Given the description of an element on the screen output the (x, y) to click on. 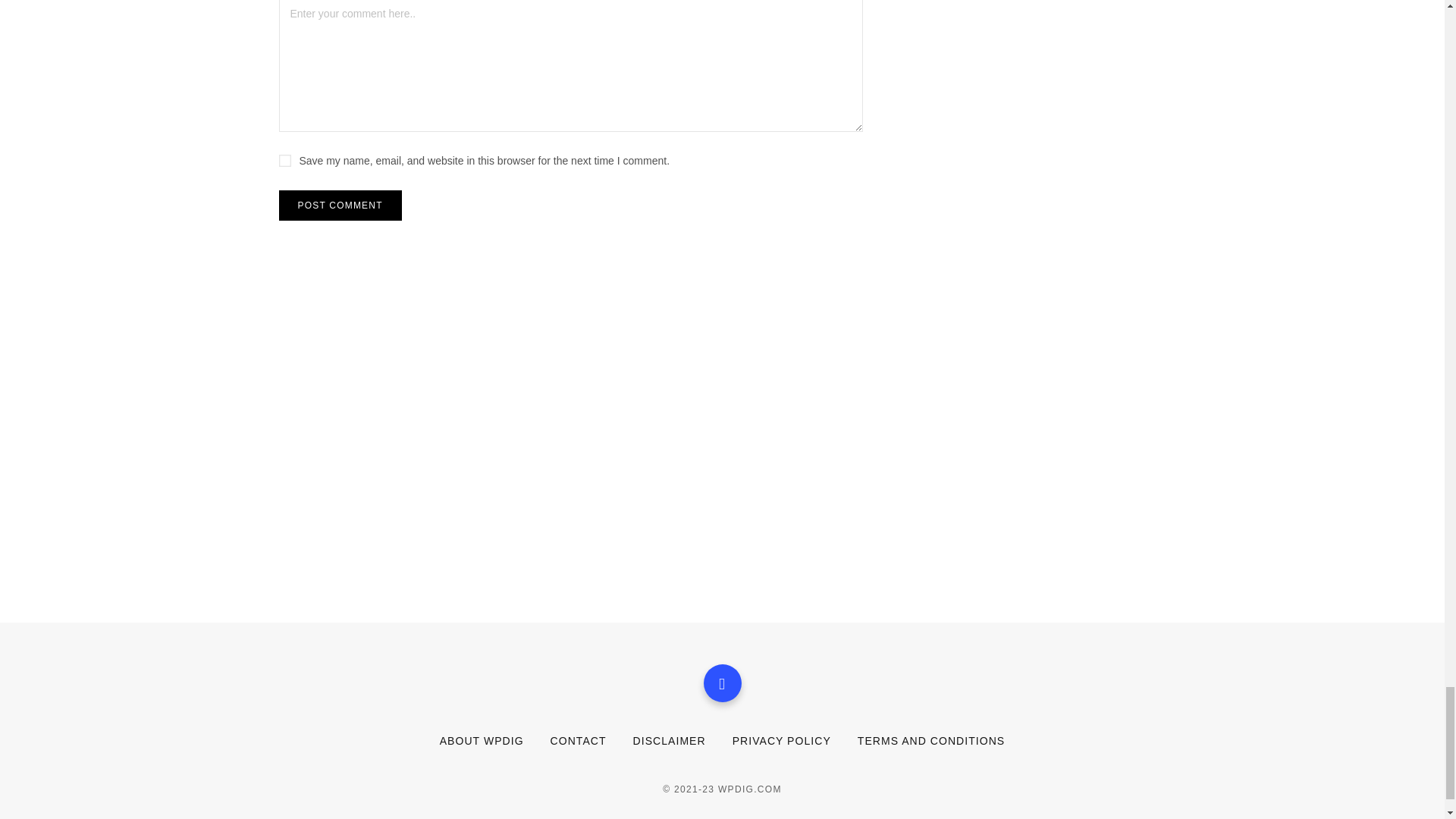
PRIVACY POLICY (781, 740)
Post Comment (340, 205)
CONTACT (578, 740)
DISCLAIMER (669, 740)
ABOUT WPDIG (481, 740)
Post Comment (340, 205)
yes (285, 160)
